Given the description of an element on the screen output the (x, y) to click on. 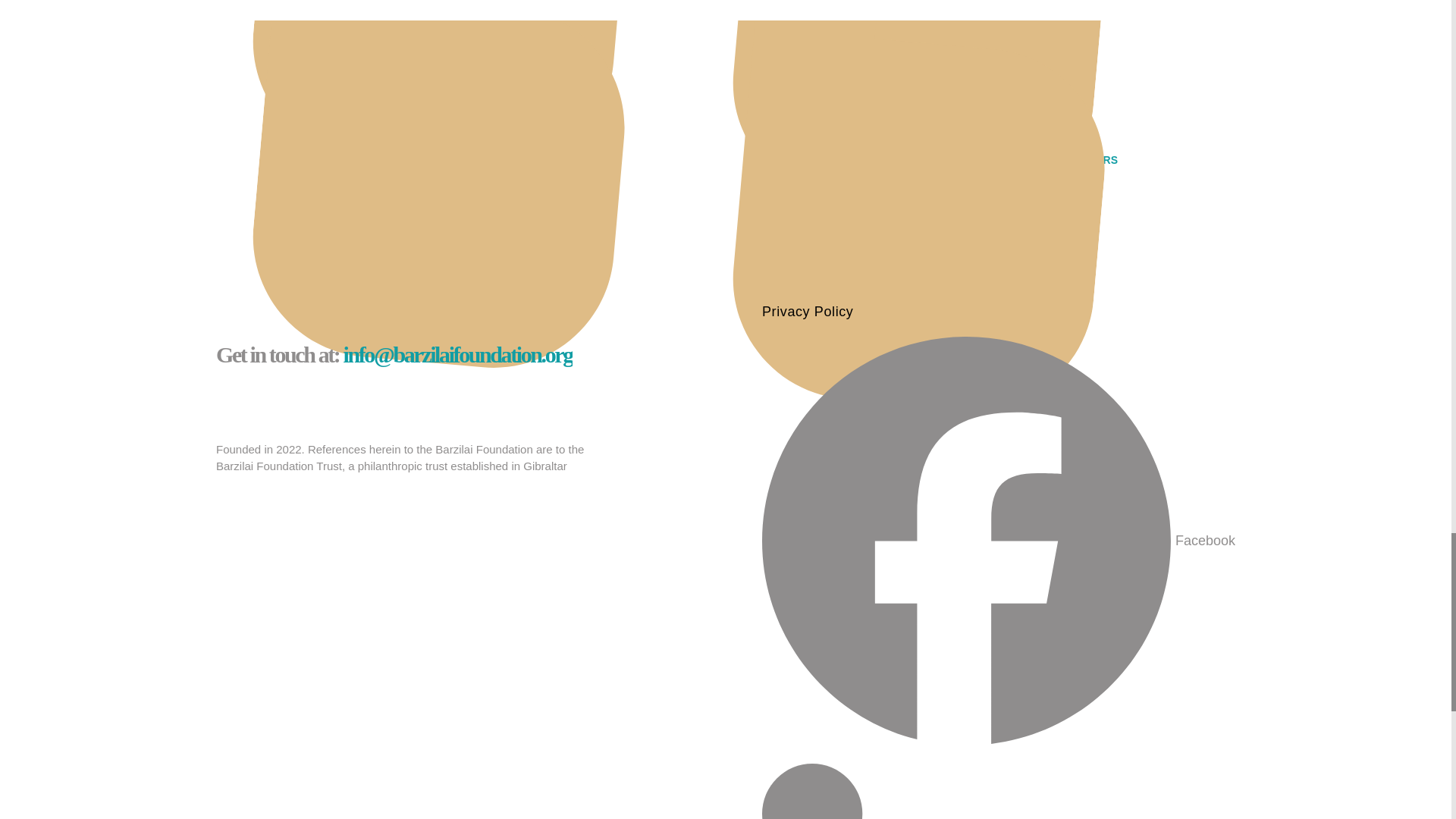
Linkedin (997, 791)
PARTNERS (1088, 159)
TEAM (362, 159)
Privacy Policy (997, 311)
